Given the description of an element on the screen output the (x, y) to click on. 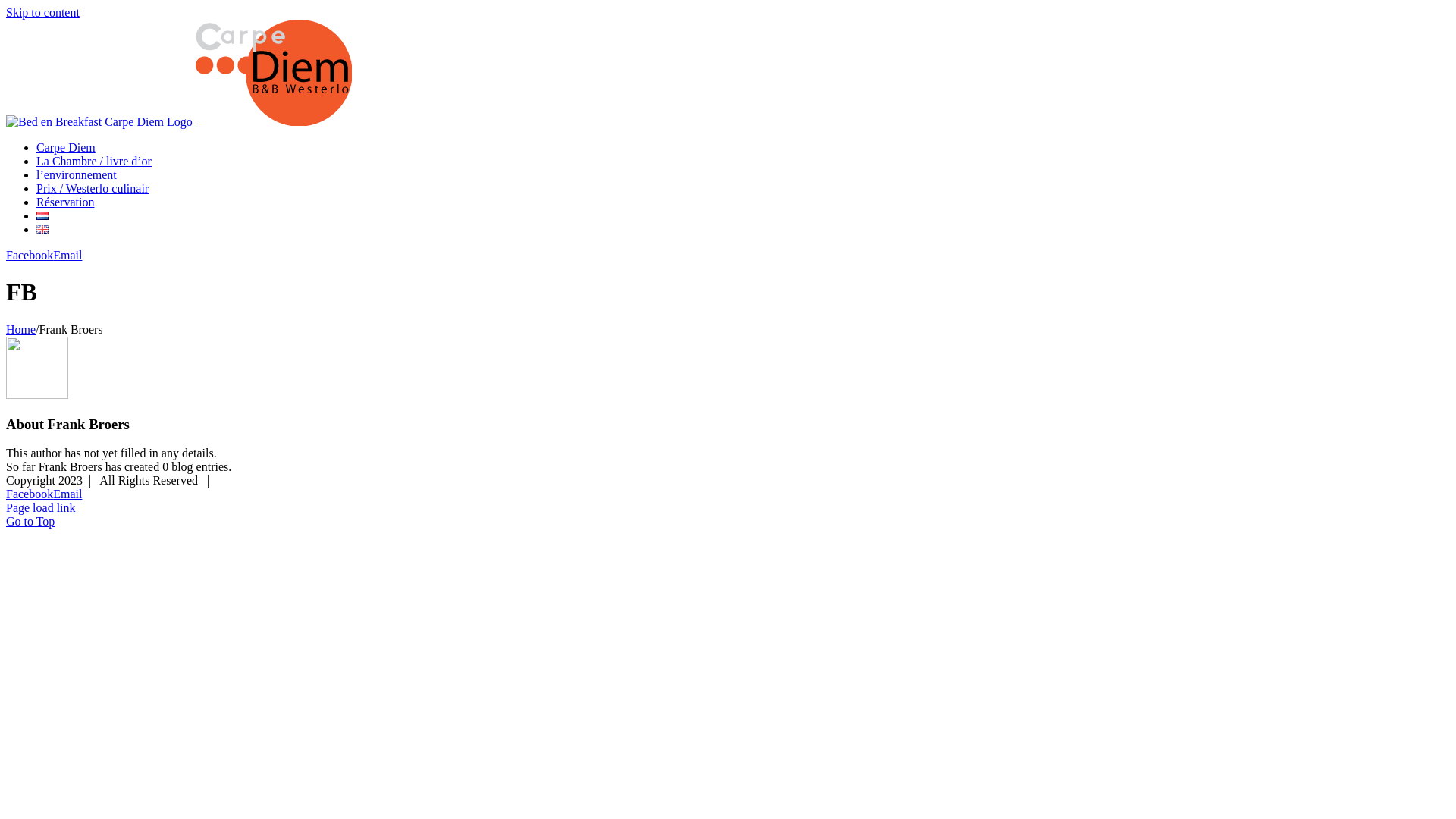
Carpe Diem Element type: text (65, 147)
Page load link Element type: text (40, 507)
Go to Top Element type: text (30, 520)
Home Element type: text (20, 329)
Email Element type: text (67, 493)
Email Element type: text (67, 254)
Skip to content Element type: text (42, 12)
Prix / Westerlo culinair Element type: text (92, 188)
Facebook Element type: text (29, 493)
Facebook Element type: text (29, 254)
